Given the description of an element on the screen output the (x, y) to click on. 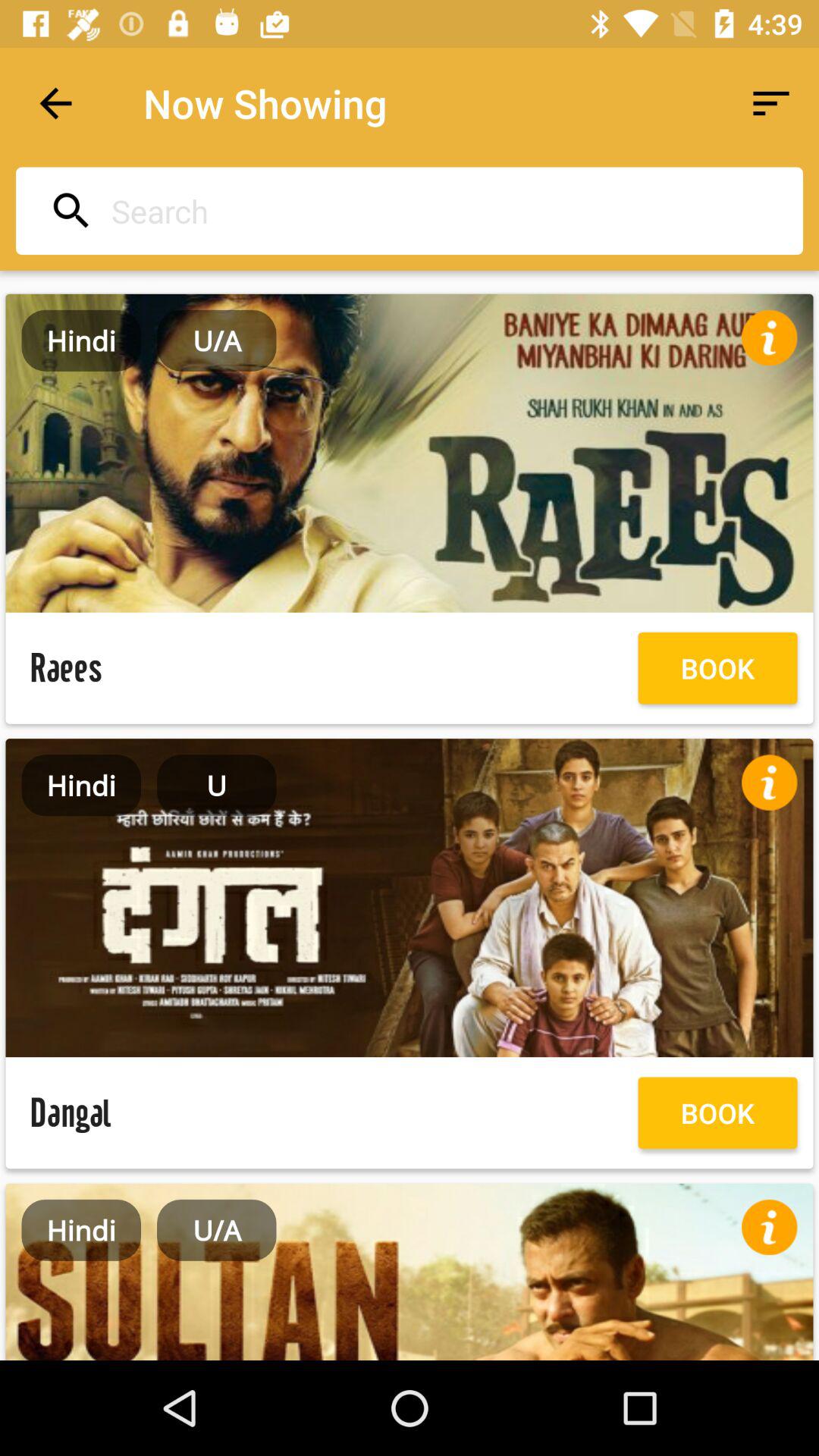
more information (769, 1227)
